Given the description of an element on the screen output the (x, y) to click on. 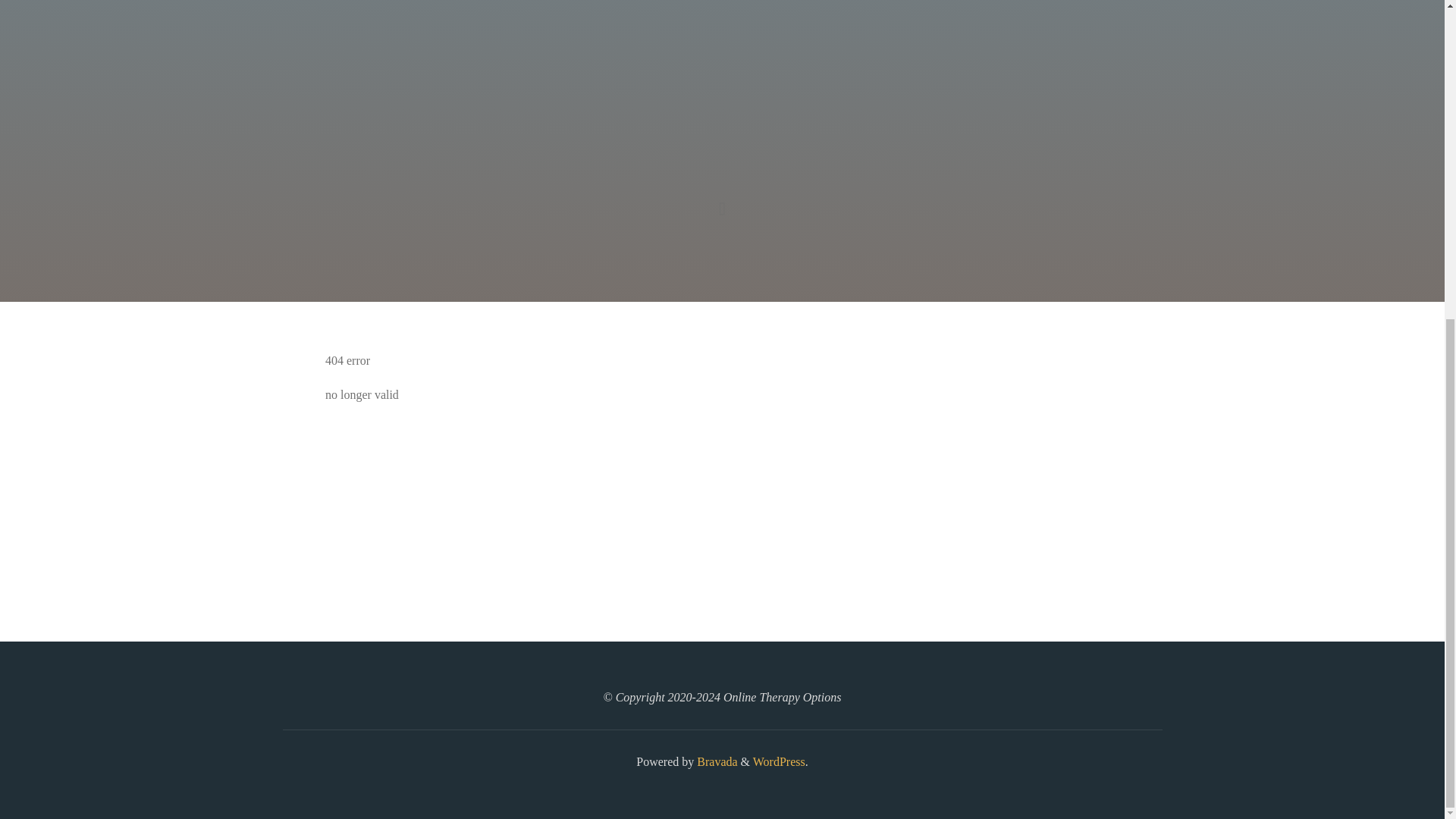
Bravada WordPress Theme by Cryout Creations (715, 761)
Bravada (715, 761)
WordPress (778, 761)
Read more (721, 207)
Semantic Personal Publishing Platform (778, 761)
